Given the description of an element on the screen output the (x, y) to click on. 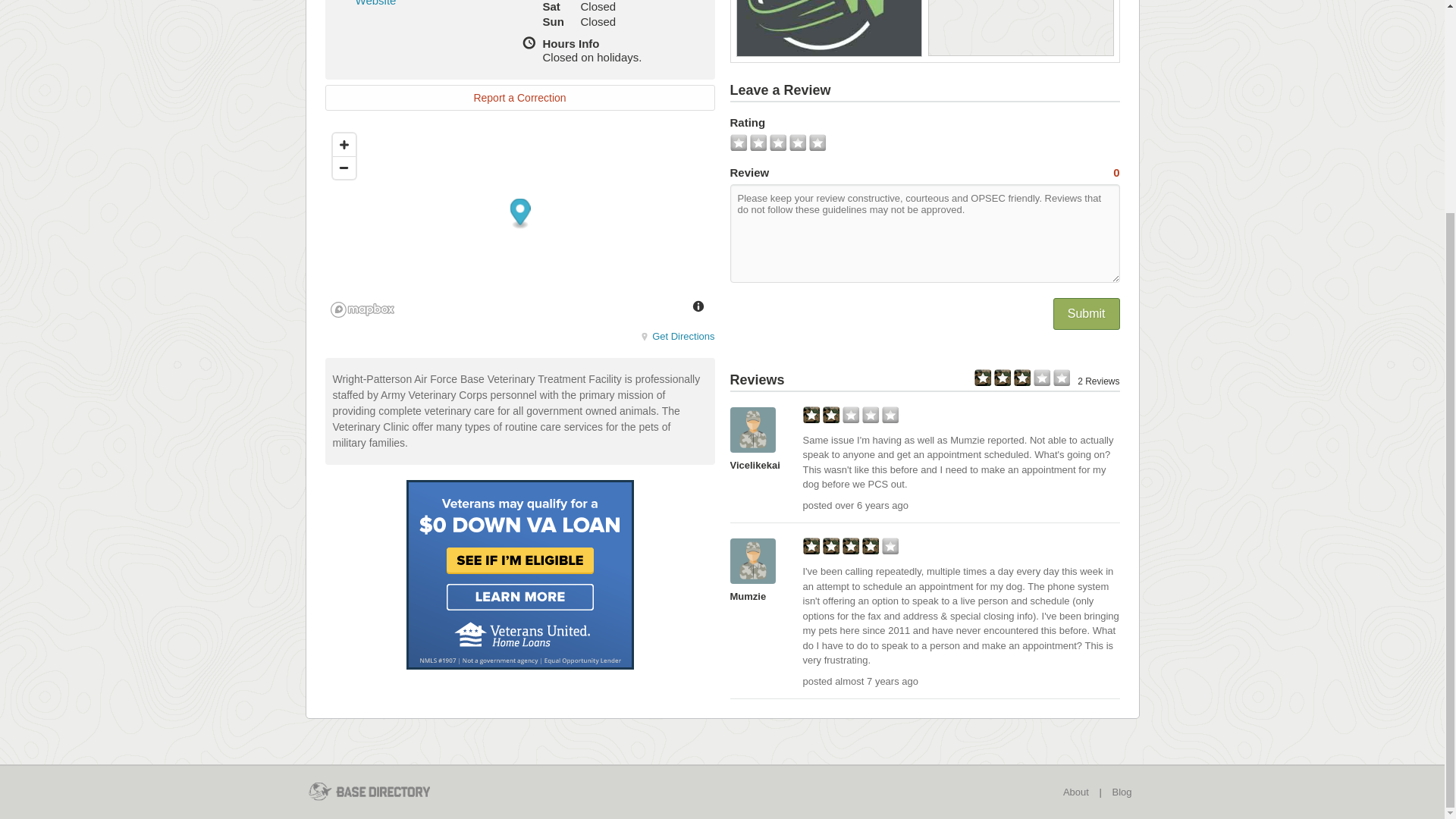
Report a Correction (519, 97)
Zoom in (343, 144)
Wright-Patterson Veterinary Website (425, 3)
Sign up (722, 115)
Zoom out (343, 167)
Submit (1085, 314)
Get Directions (677, 336)
Log in (722, 40)
